Given the description of an element on the screen output the (x, y) to click on. 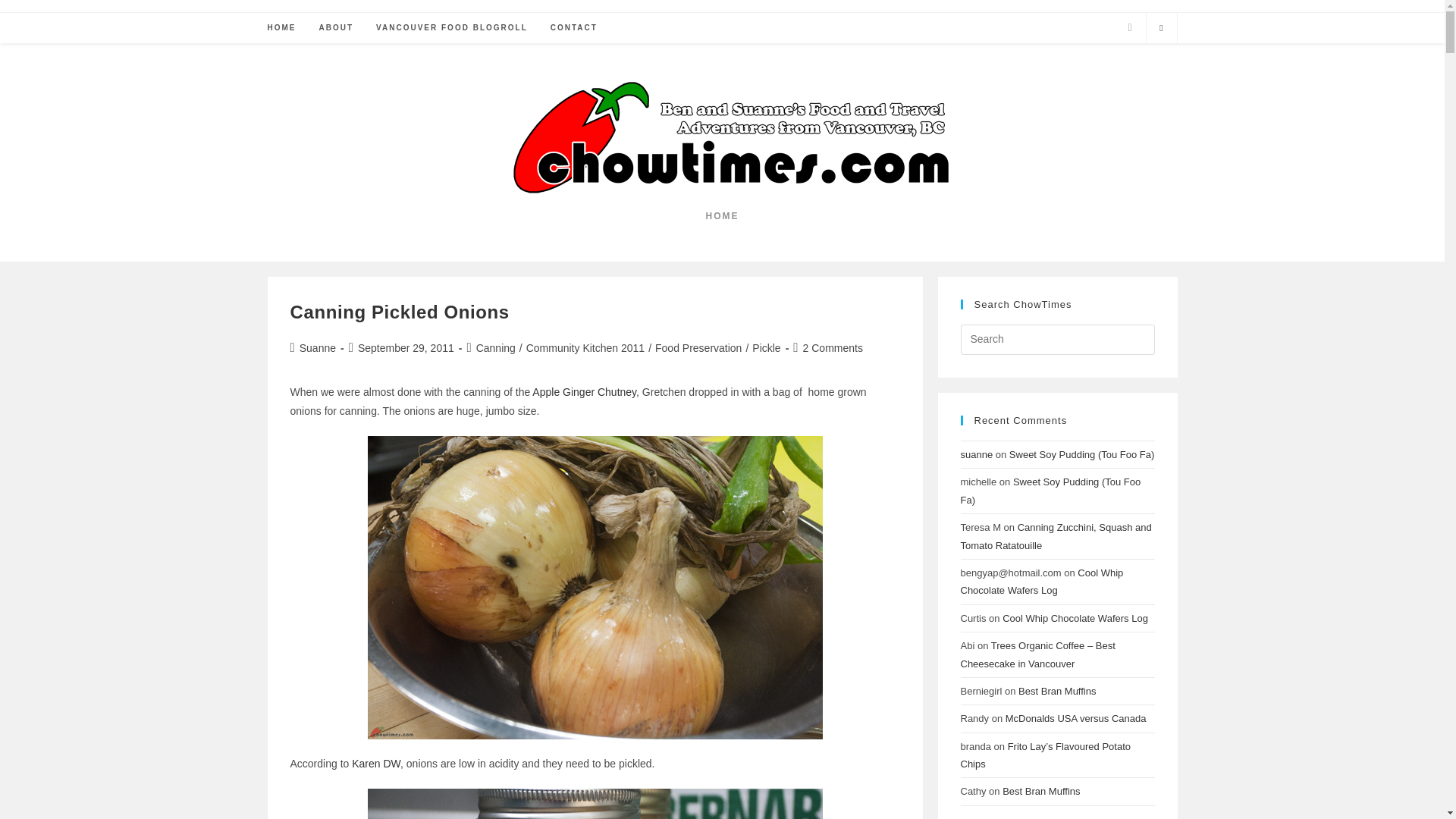
Suanne (317, 347)
Canning Pickled Onions (398, 312)
Community Kitchen 2011 (585, 347)
Karen DW (376, 763)
HOME (281, 28)
ABOUT (336, 28)
VANCOUVER FOOD BLOGROLL (451, 28)
Posts by Suanne (317, 347)
Apple Ginger Chutney (582, 391)
Canning (495, 347)
